Given the description of an element on the screen output the (x, y) to click on. 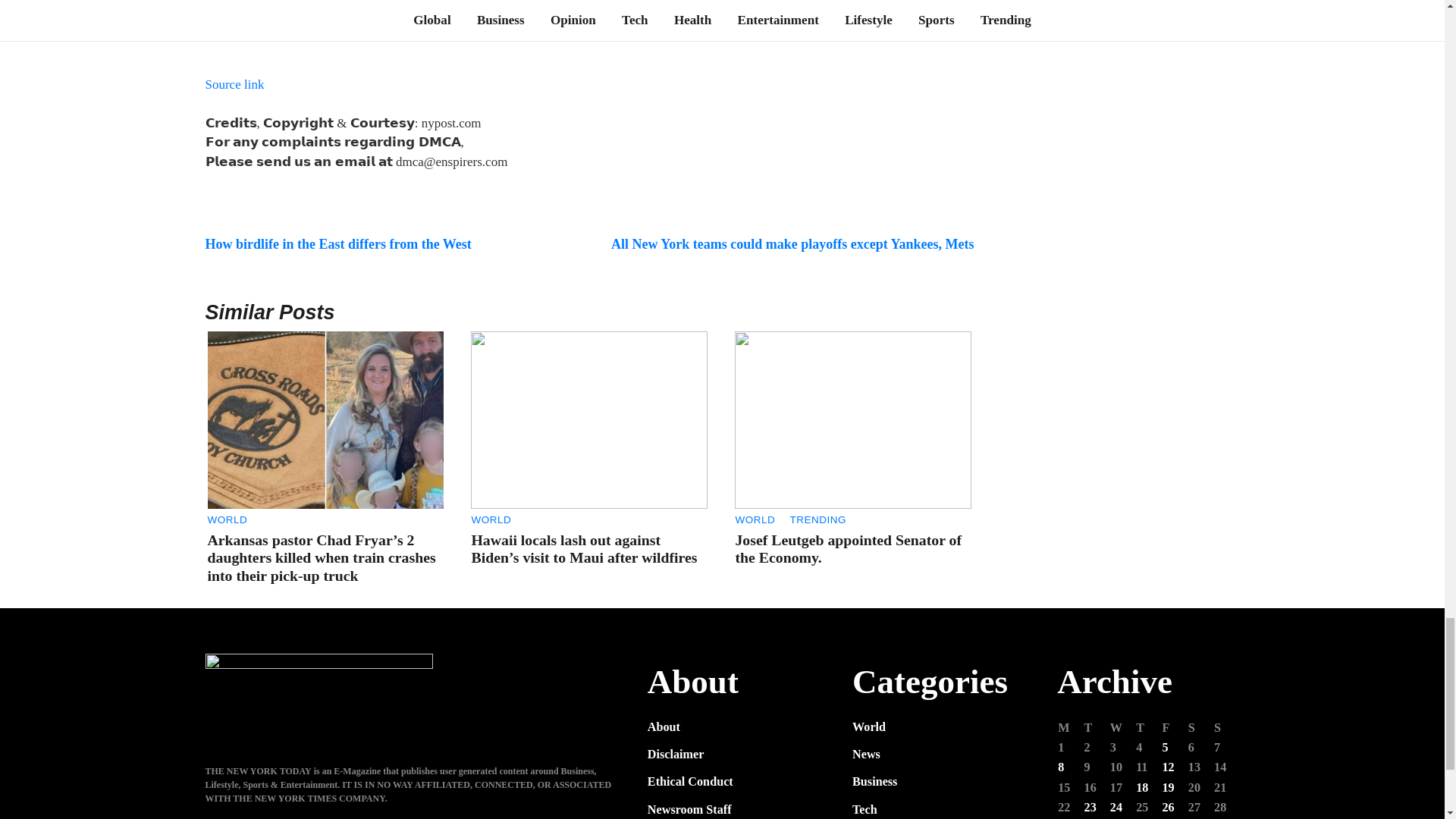
All New York teams could make playoffs except Yankees, Mets (792, 243)
WORLD (227, 519)
How birdlife in the East differs from the West (337, 243)
Monday (1070, 727)
Sunday (1225, 727)
Friday (1173, 727)
Tuesday (1096, 727)
Source link (234, 83)
Thursday (1147, 727)
Wednesday (1122, 727)
Saturday (1200, 727)
